Given the description of an element on the screen output the (x, y) to click on. 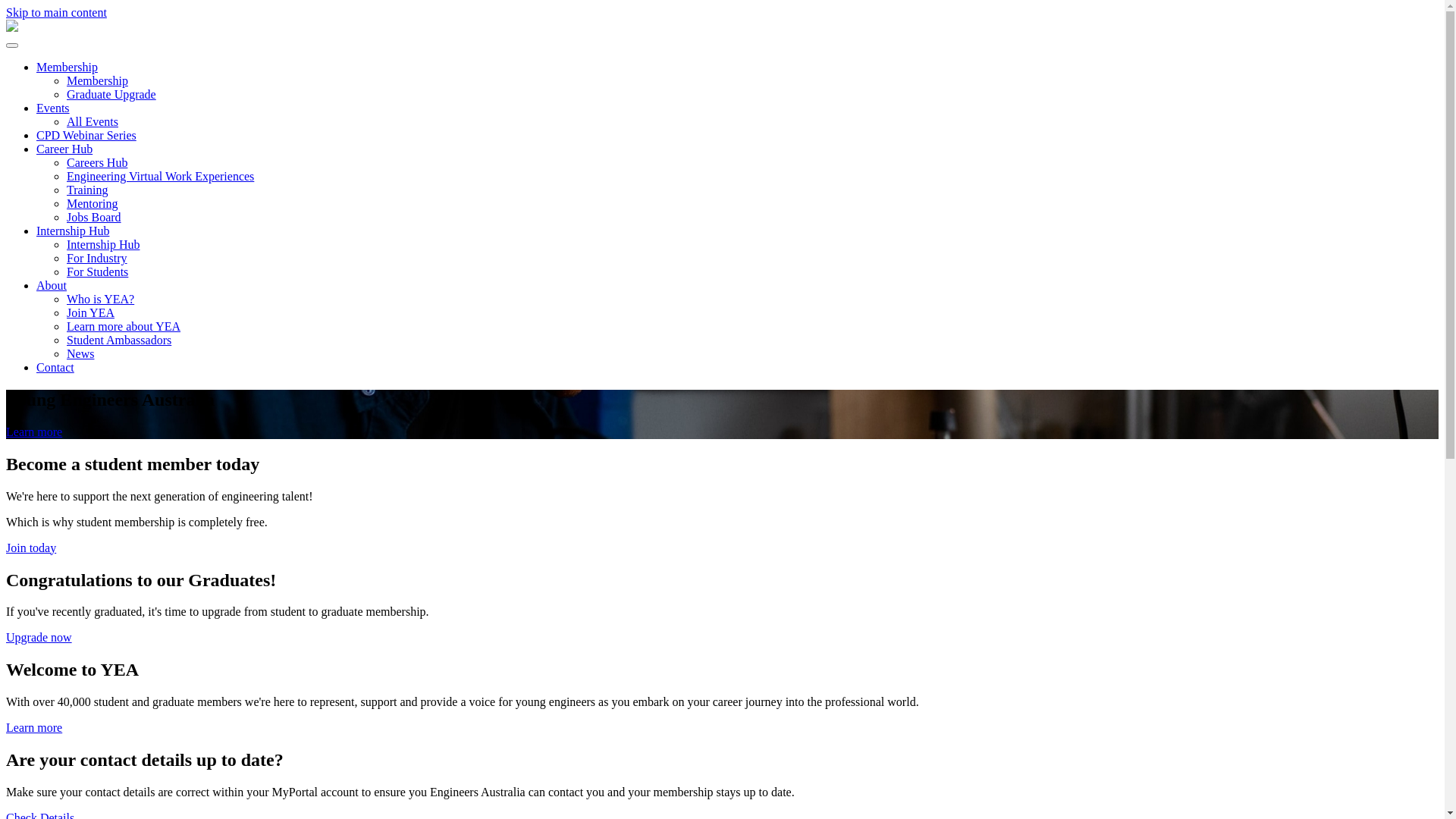
Join today Element type: text (31, 547)
Upgrade now Element type: text (39, 636)
Learn more about YEA Element type: text (123, 326)
Internship Hub Element type: text (102, 244)
Contact Element type: text (55, 366)
CPD Webinar Series Element type: text (86, 134)
Skip to main content Element type: text (56, 12)
All Events Element type: text (92, 121)
Events Element type: text (52, 107)
Training Element type: text (87, 189)
Career Hub Element type: text (64, 148)
Membership Element type: text (66, 66)
Who is YEA? Element type: text (100, 298)
Membership Element type: text (97, 80)
News Element type: text (80, 353)
Join YEA Element type: text (90, 312)
For Industry Element type: text (96, 257)
Mentoring Element type: text (92, 203)
Careers Hub Element type: text (96, 162)
Student Ambassadors Element type: text (118, 339)
Engineering Virtual Work Experiences Element type: text (160, 175)
About Element type: text (51, 285)
Learn more Element type: text (34, 431)
Jobs Board Element type: text (93, 216)
Graduate Upgrade Element type: text (111, 93)
For Students Element type: text (97, 271)
Learn more Element type: text (34, 727)
Internship Hub Element type: text (72, 230)
